Given the description of an element on the screen output the (x, y) to click on. 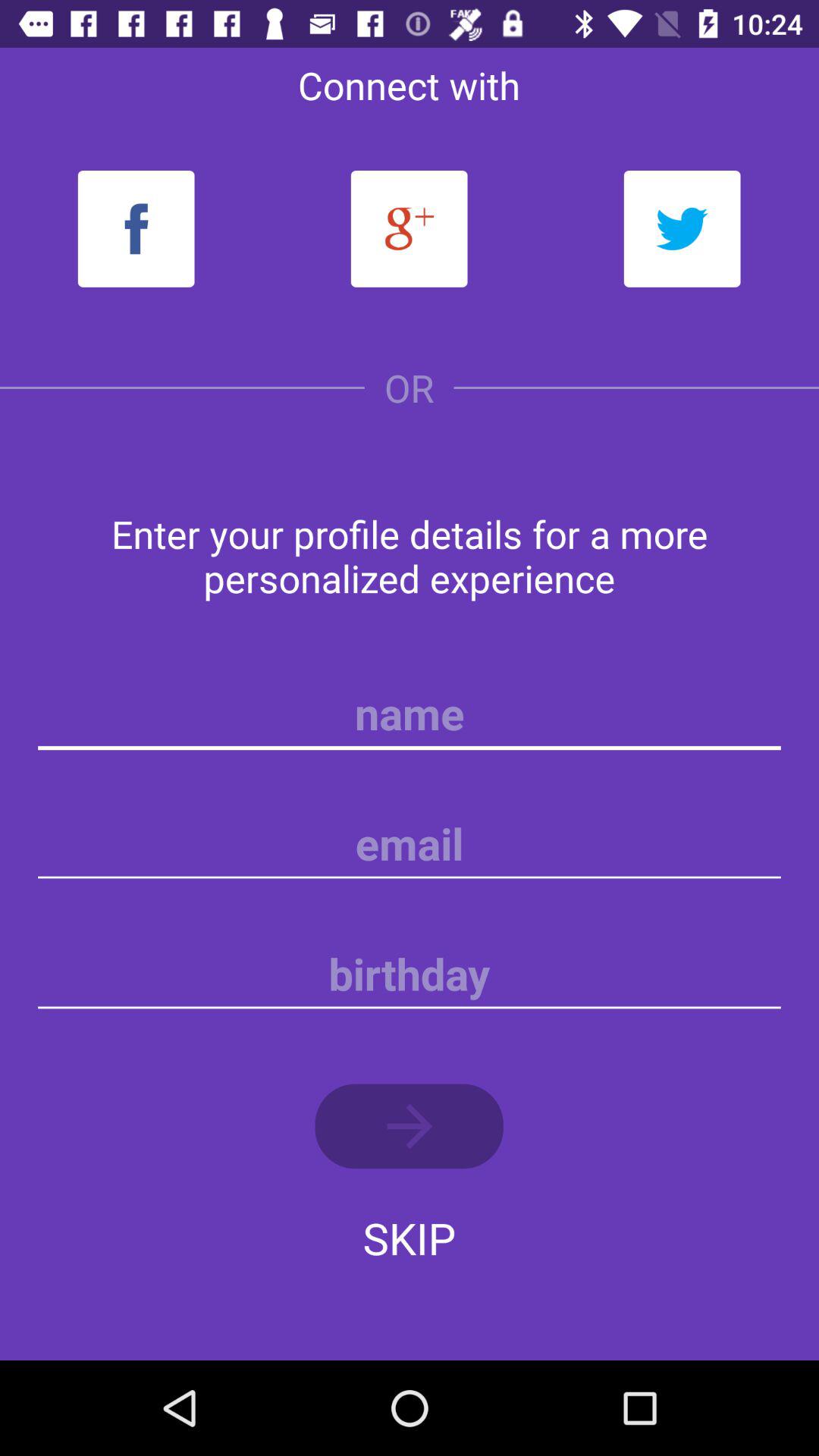
enter name field (409, 713)
